Given the description of an element on the screen output the (x, y) to click on. 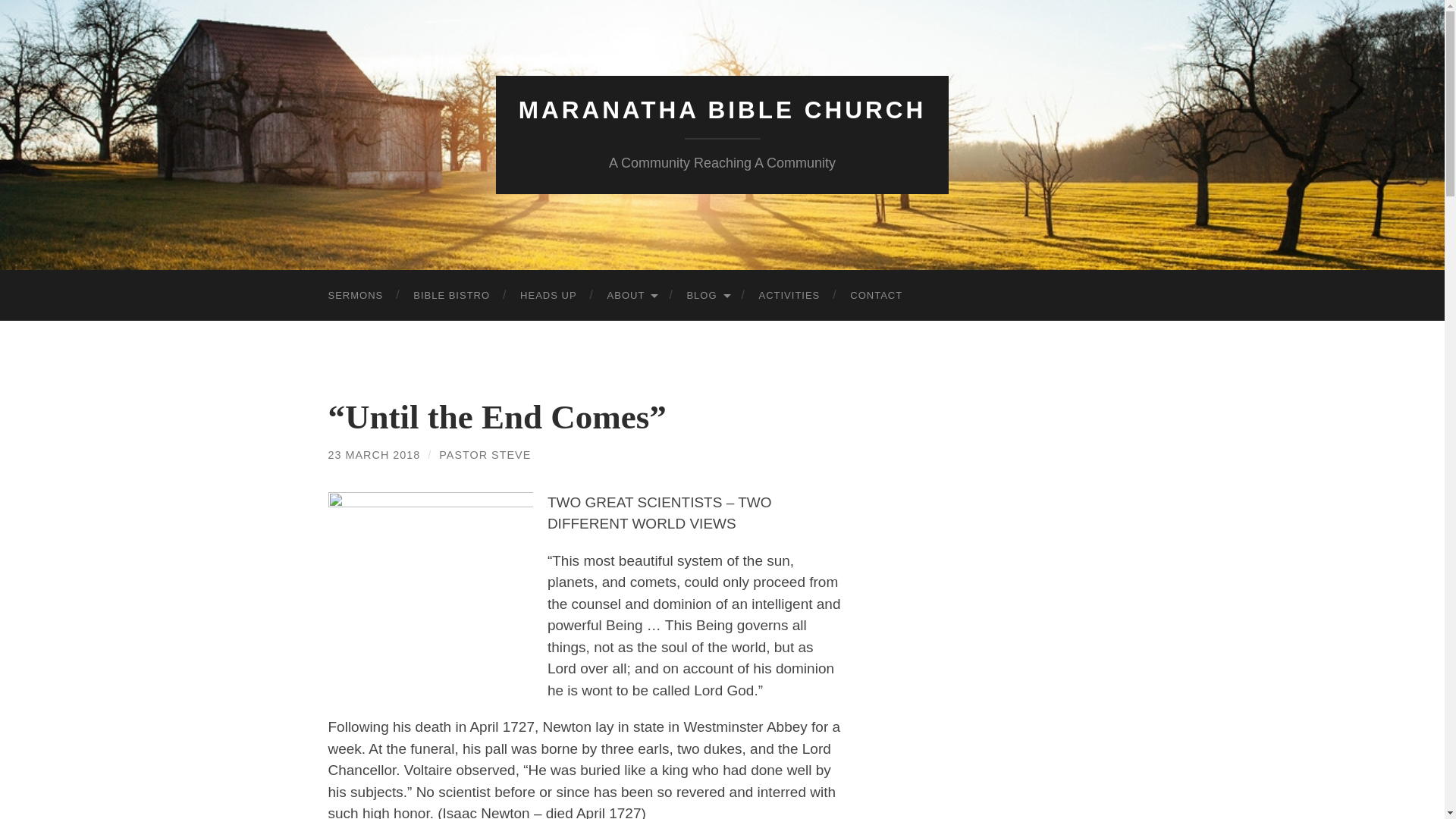
SERMONS (355, 295)
23 MARCH 2018 (373, 454)
MARANATHA BIBLE CHURCH (722, 109)
ACTIVITIES (788, 295)
BIBLE BISTRO (451, 295)
CONTACT (875, 295)
PASTOR STEVE (485, 454)
HEADS UP (548, 295)
BLOG (706, 295)
ABOUT (631, 295)
Posts by Pastor Steve (485, 454)
